Given the description of an element on the screen output the (x, y) to click on. 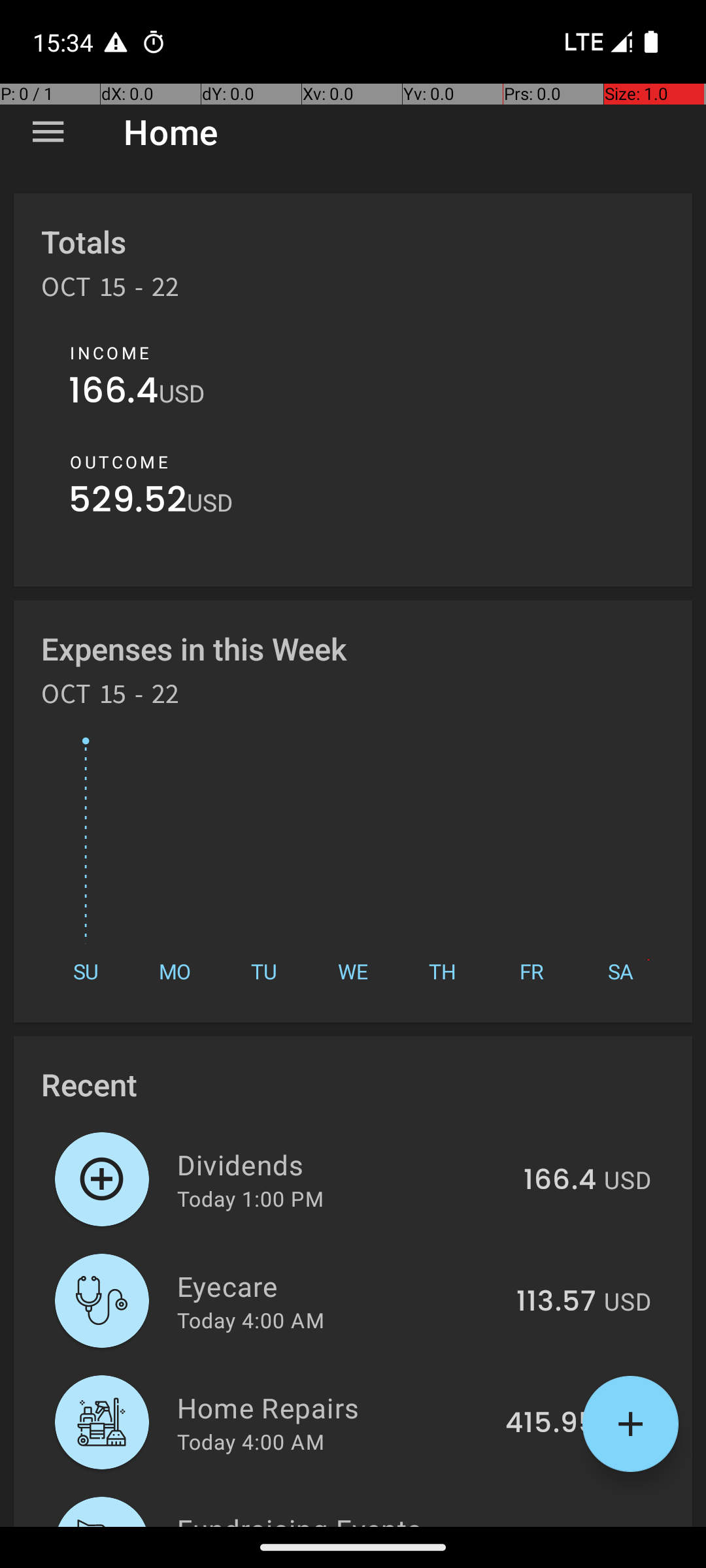
166.4 Element type: android.widget.TextView (113, 393)
529.52 Element type: android.widget.TextView (127, 502)
Dividends Element type: android.widget.TextView (342, 1164)
Today 1:00 PM Element type: android.widget.TextView (250, 1198)
Eyecare Element type: android.widget.TextView (339, 1285)
Today 4:00 AM Element type: android.widget.TextView (250, 1320)
113.57 Element type: android.widget.TextView (555, 1301)
Home Repairs Element type: android.widget.TextView (333, 1407)
415.95 Element type: android.widget.TextView (550, 1423)
Fundraising Events Element type: android.widget.TextView (335, 1518)
479.12 Element type: android.widget.TextView (552, 1524)
